Given the description of an element on the screen output the (x, y) to click on. 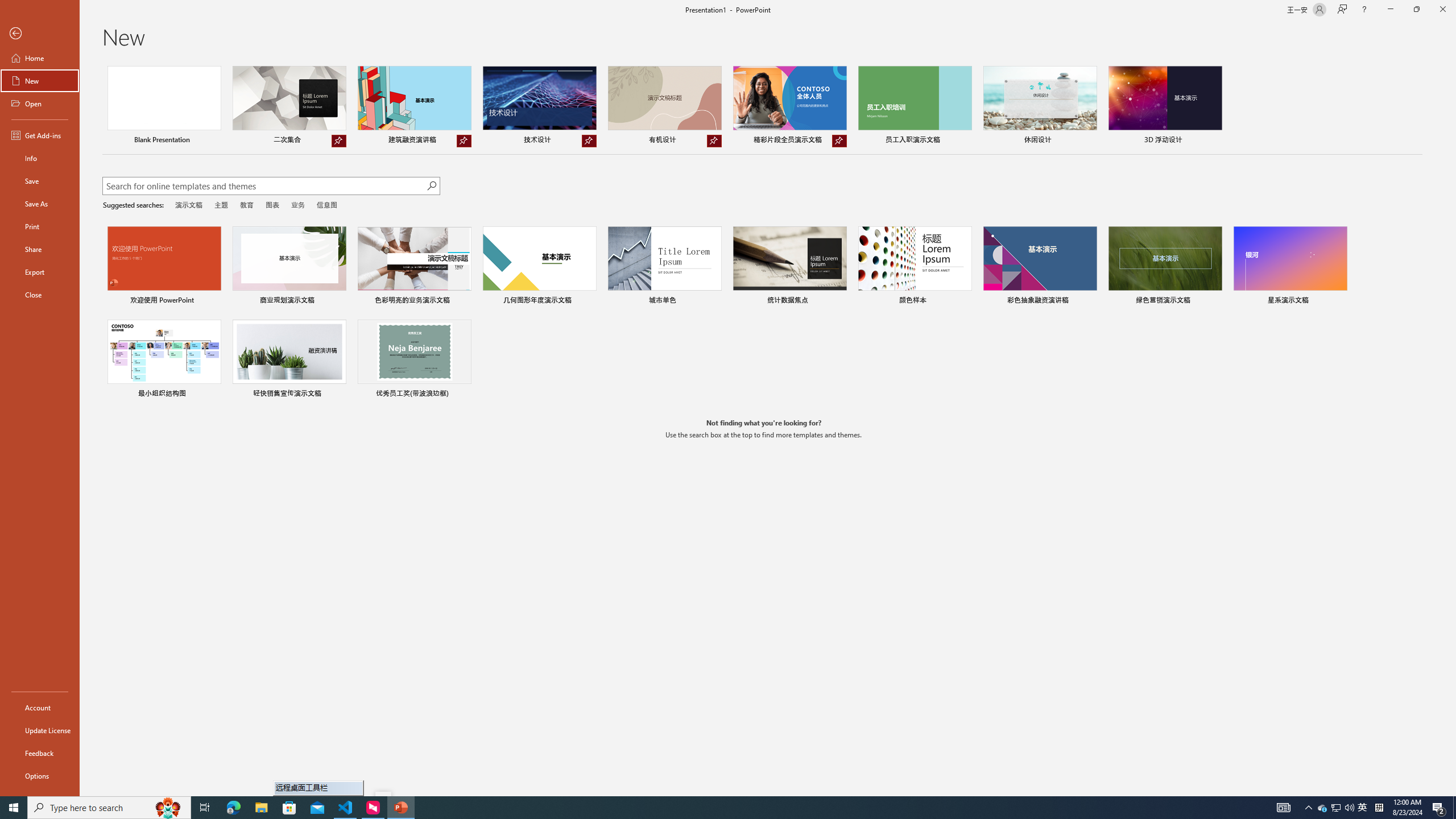
Class: NetUIScrollBar (1450, 428)
Options (40, 775)
Info (40, 157)
Start searching (431, 185)
Account (40, 707)
